Given the description of an element on the screen output the (x, y) to click on. 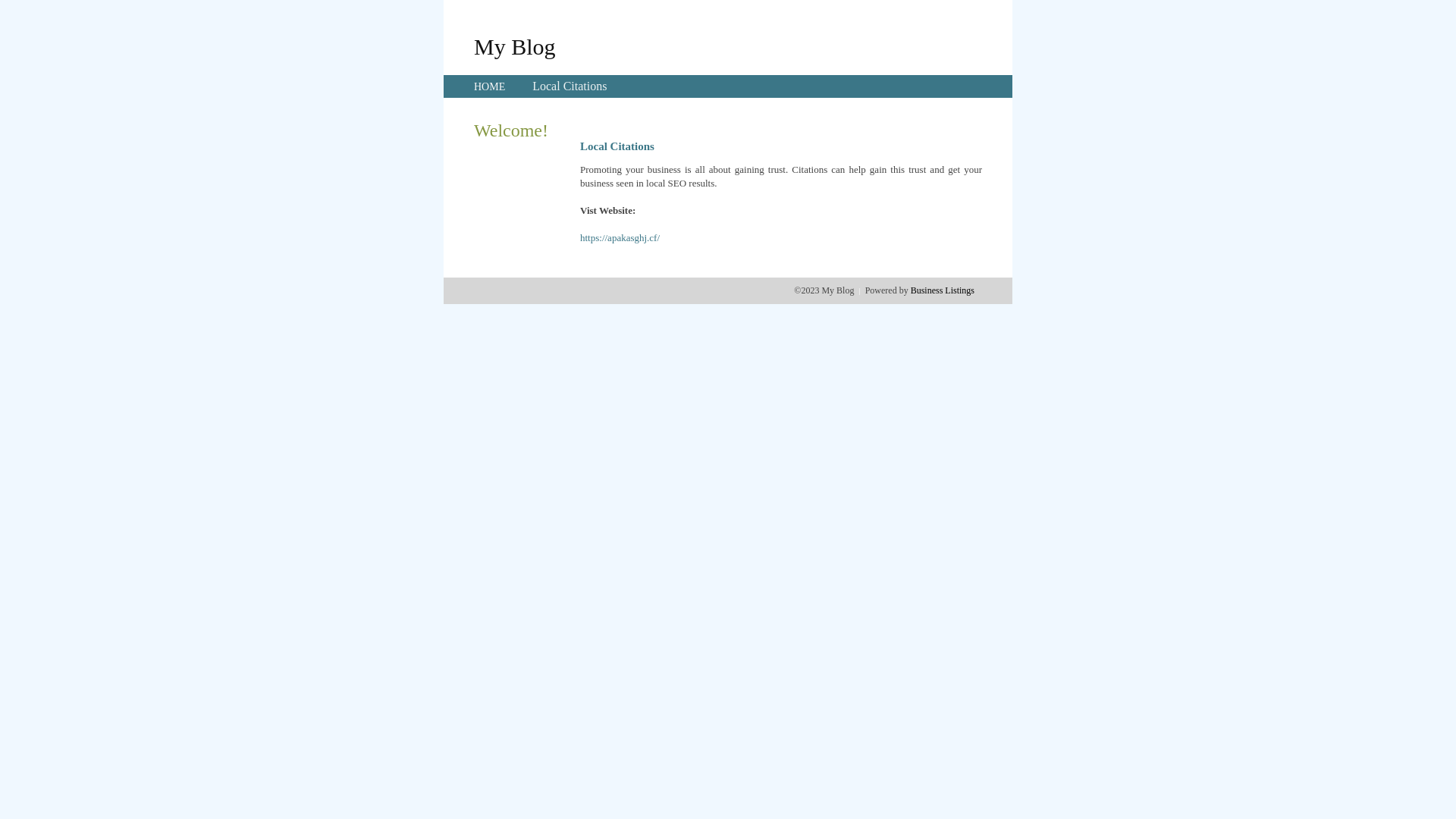
Local Citations Element type: text (569, 85)
Business Listings Element type: text (942, 290)
My Blog Element type: text (514, 46)
https://apakasghj.cf/ Element type: text (619, 237)
HOME Element type: text (489, 86)
